Given the description of an element on the screen output the (x, y) to click on. 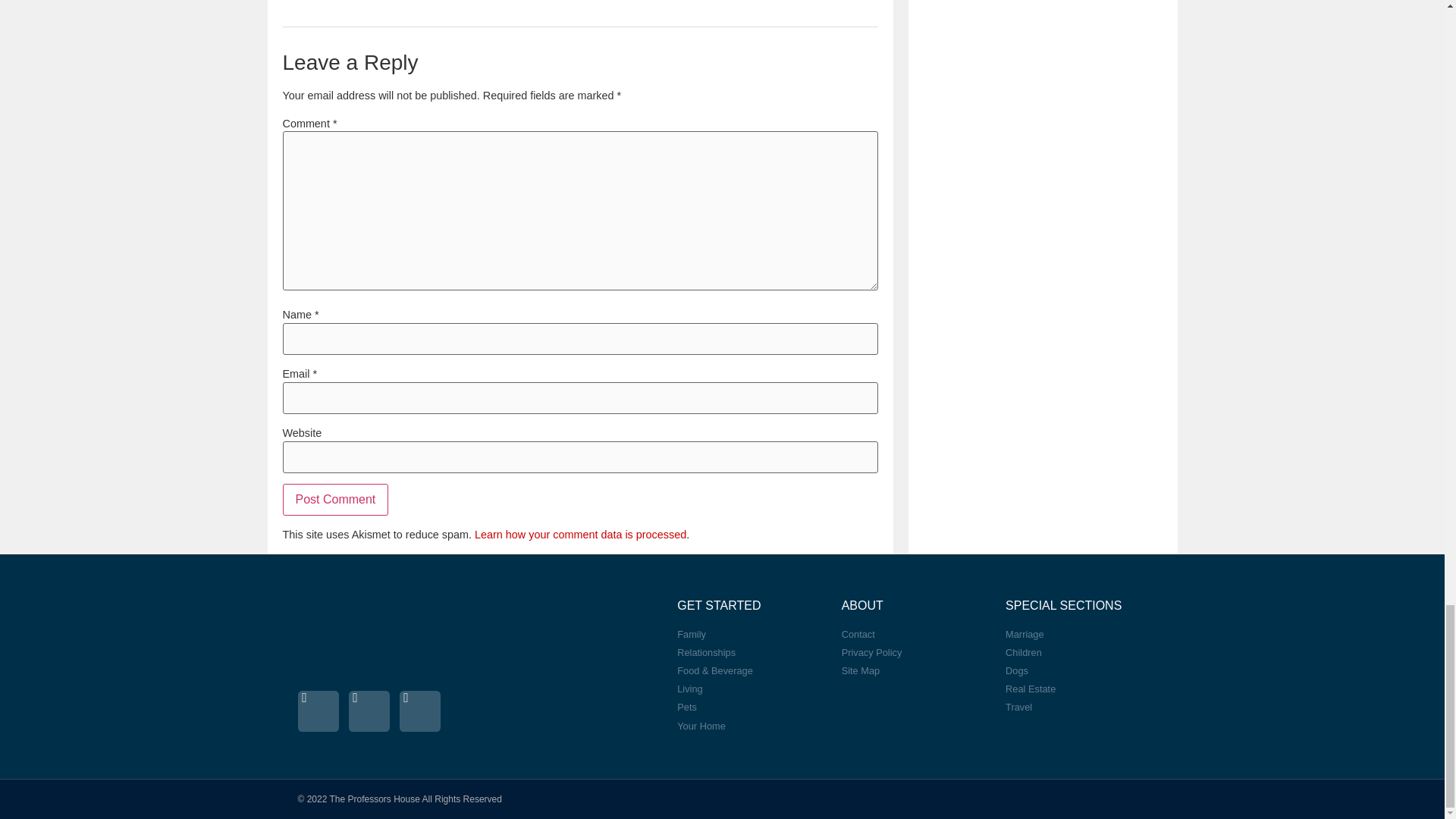
Post Comment (335, 499)
